Given the description of an element on the screen output the (x, y) to click on. 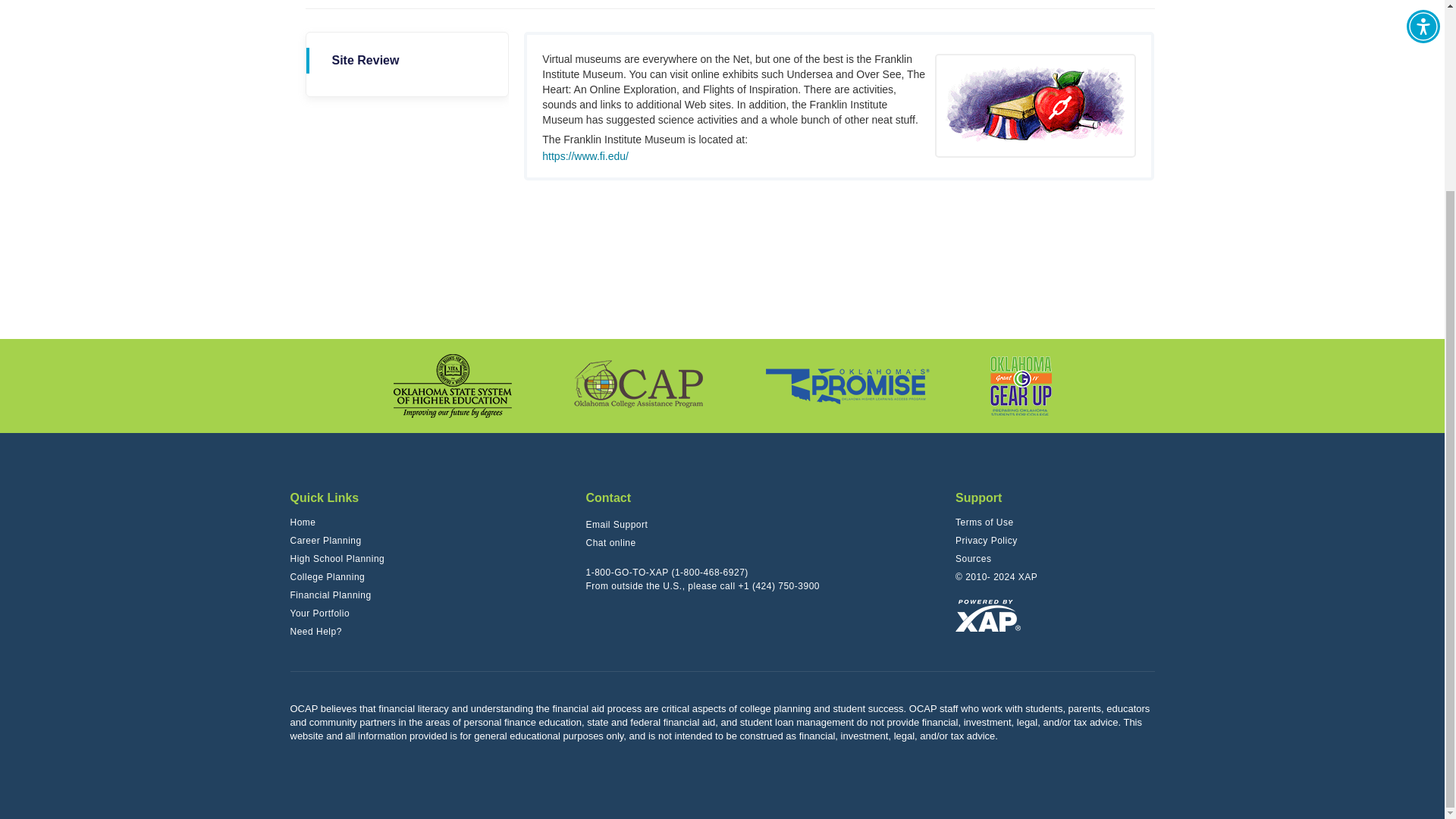
Your Portfolio (319, 613)
Chat online (609, 542)
College Planning (327, 577)
Home (302, 522)
Oklahoma Gear Up (1020, 385)
Email Support (616, 524)
High School Planning (336, 558)
Oklahoma's Promise (847, 386)
Need Help? (314, 631)
Career Planning (325, 540)
Oklahoma College Assistance Program (638, 385)
Financial Planning (330, 595)
Site Review (408, 60)
Terms of Use (984, 522)
Oklahoma Higher Education (452, 385)
